Given the description of an element on the screen output the (x, y) to click on. 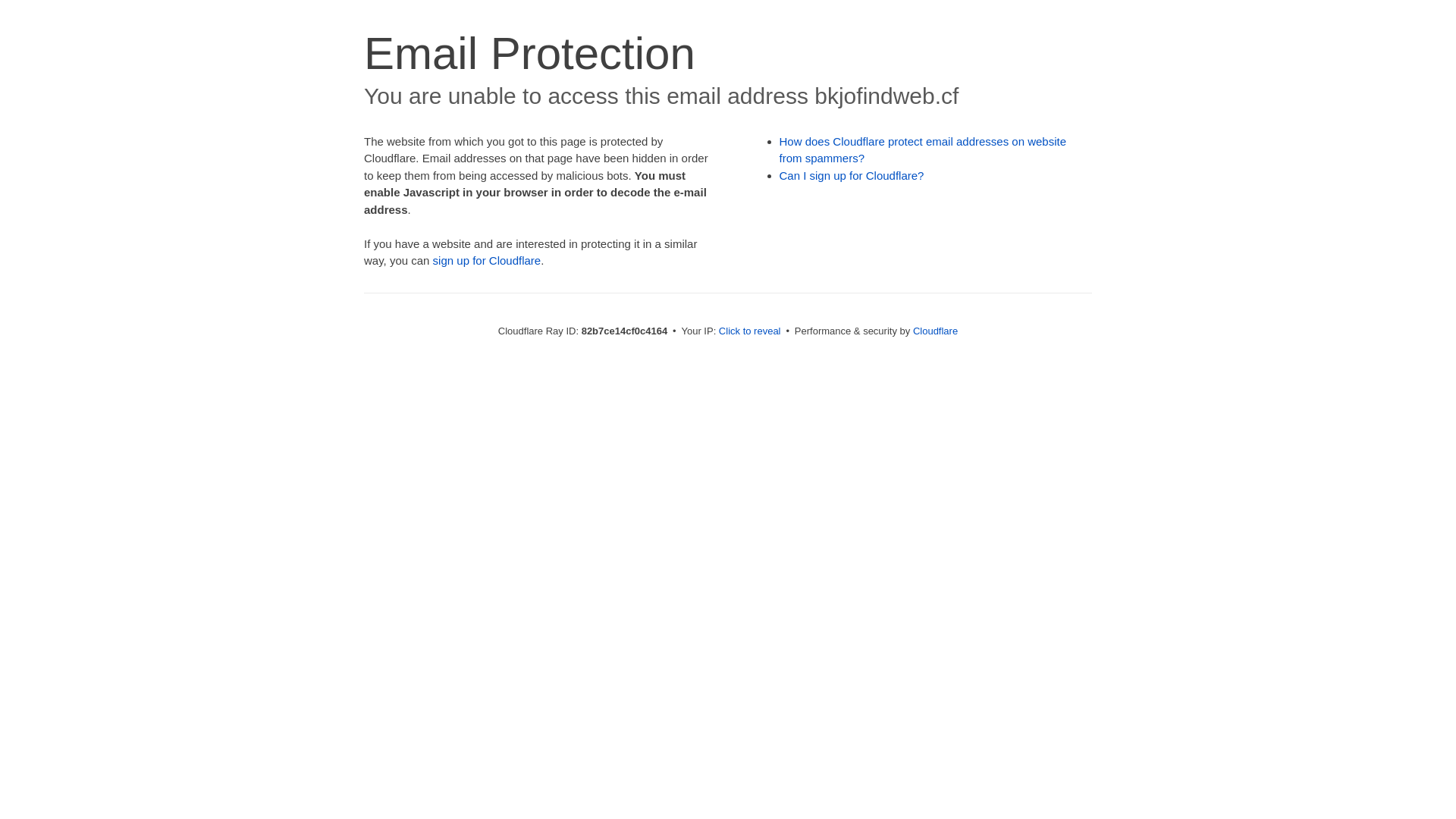
Cloudflare Element type: text (935, 330)
Can I sign up for Cloudflare? Element type: text (851, 175)
sign up for Cloudflare Element type: text (487, 260)
Click to reveal Element type: text (749, 330)
